Given the description of an element on the screen output the (x, y) to click on. 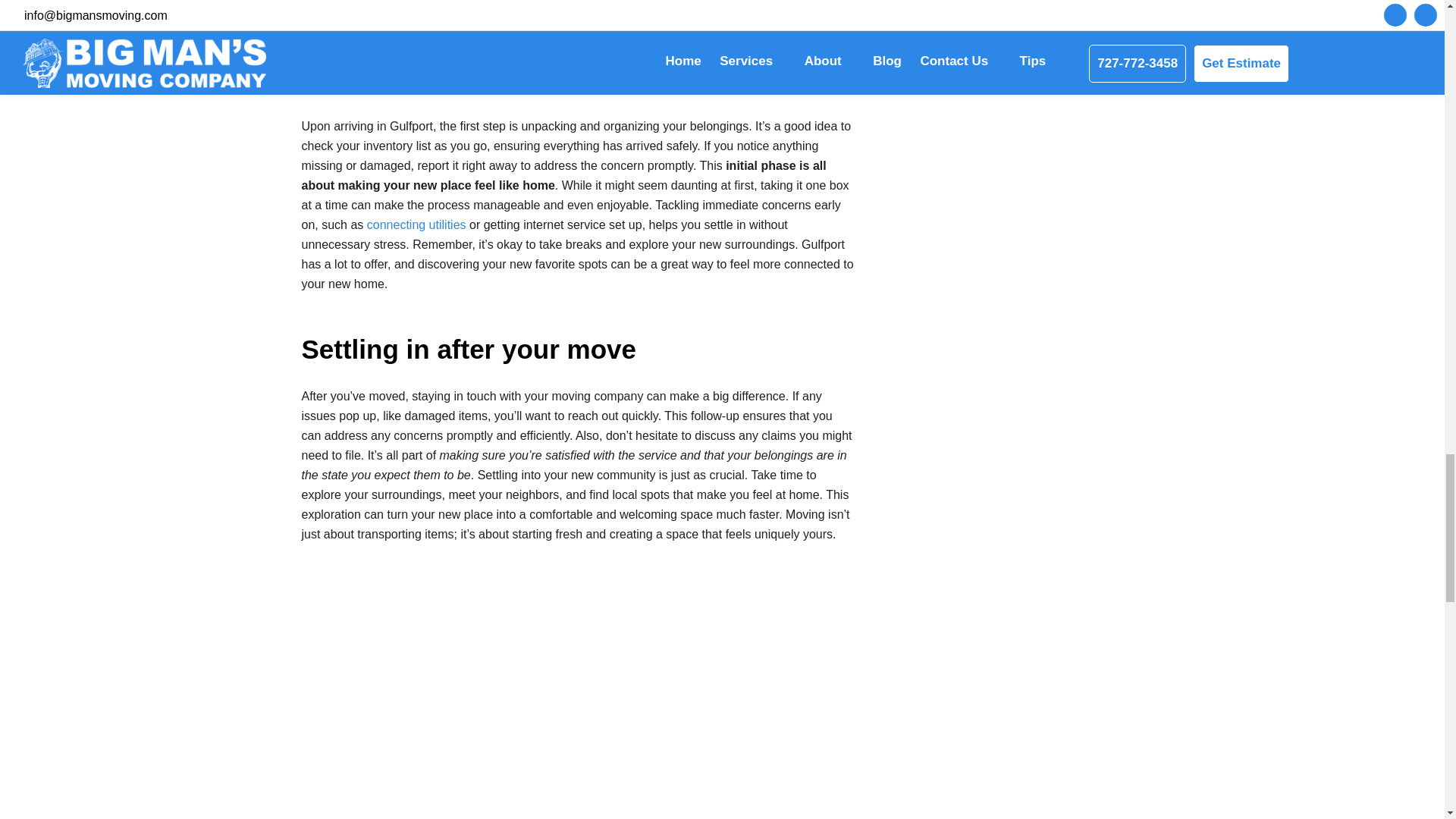
connecting utilities (415, 224)
